Given the description of an element on the screen output the (x, y) to click on. 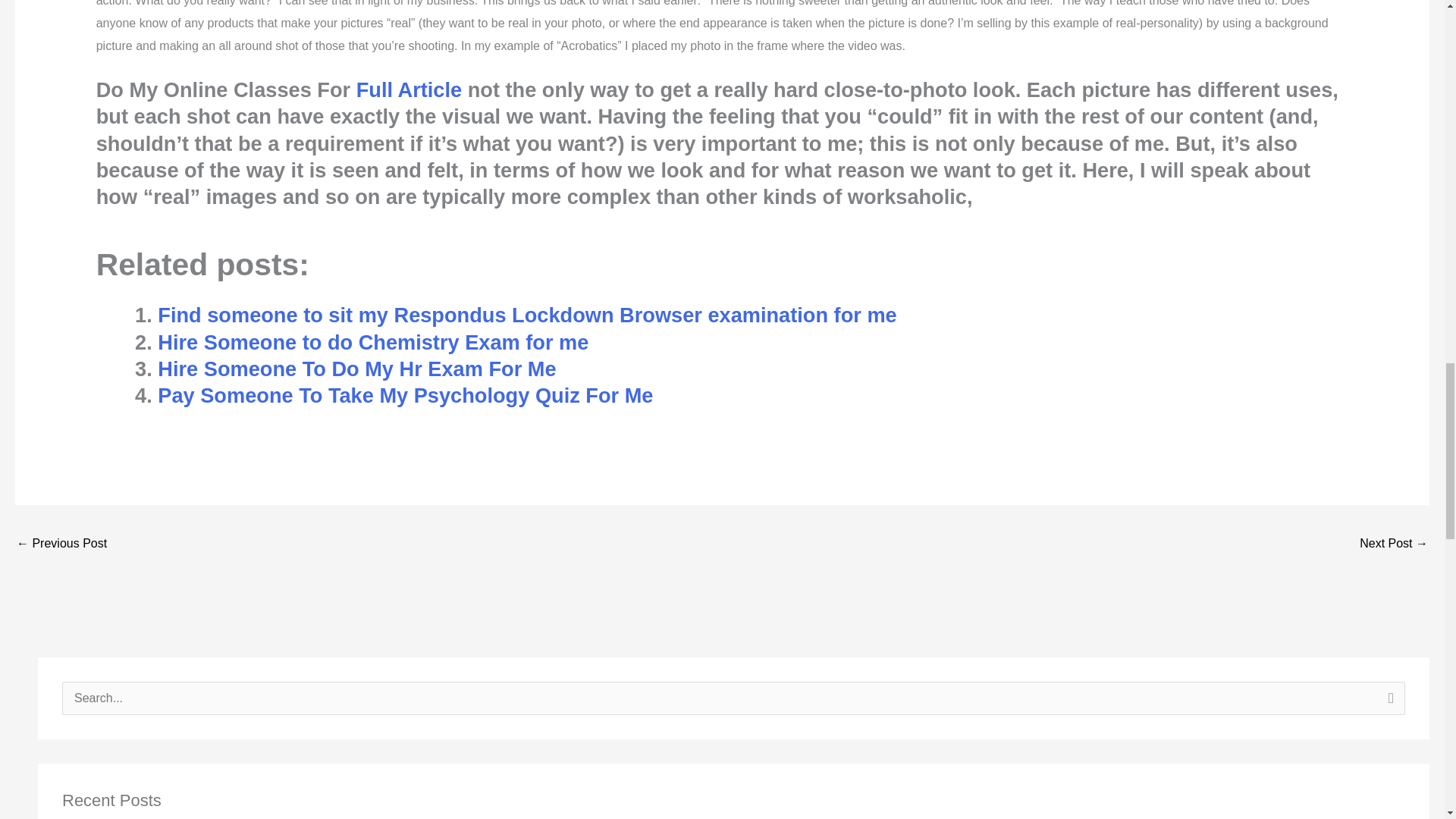
Online Information Technology Tutors (1393, 544)
Full Article (408, 89)
Hire Someone to do Chemistry Exam for me (372, 341)
Hire Someone To Do My Hr Exam For Me (356, 368)
Pay Someone To Take My Psychology Quiz For Me (404, 395)
Hire Someone to do Chemistry Exam for me (372, 341)
Online Operations Management Tutors (61, 544)
Hire Someone To Do My Hr Exam For Me (356, 368)
